Given the description of an element on the screen output the (x, y) to click on. 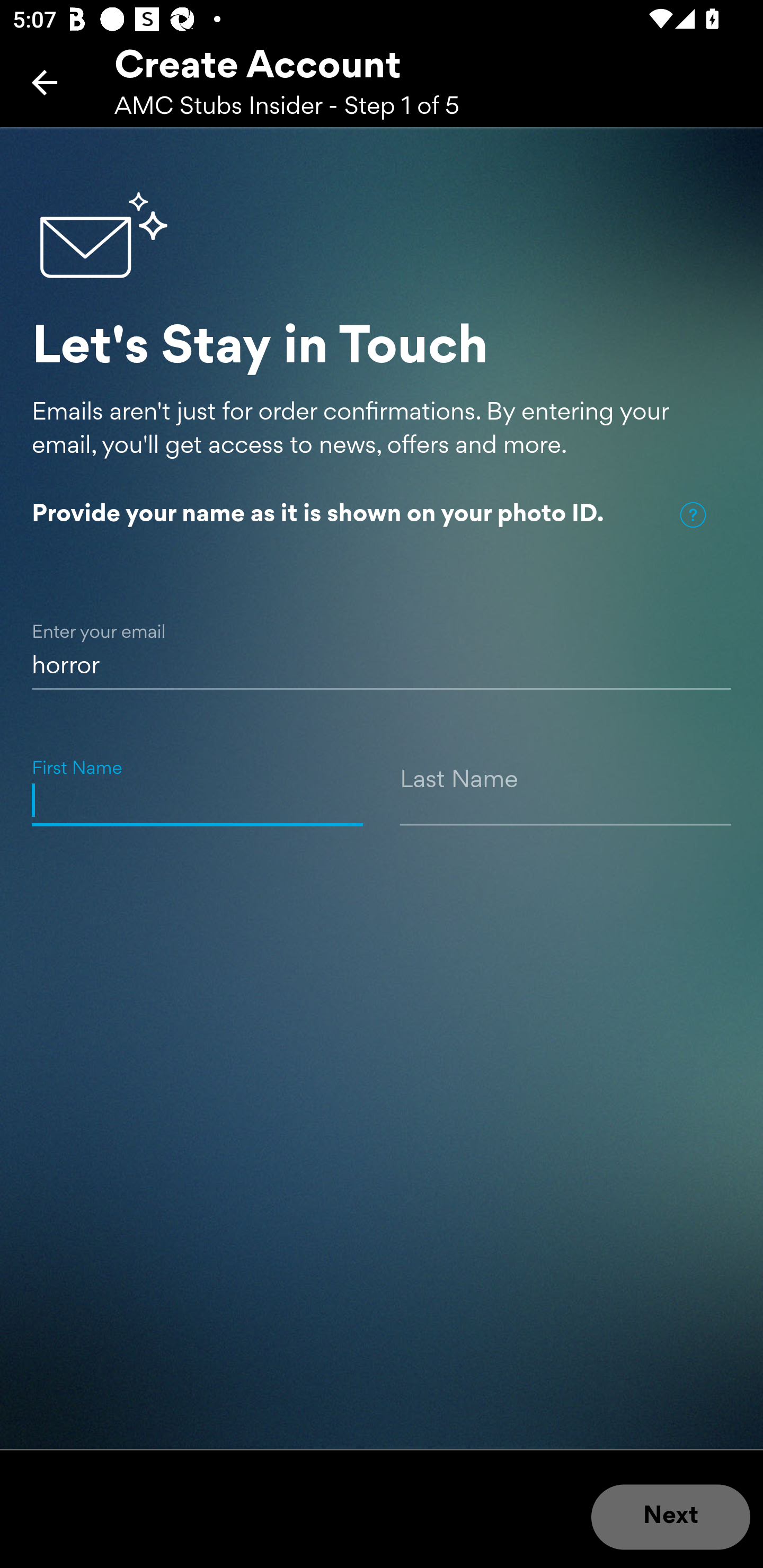
Back (44, 82)
Help (692, 514)
horror (381, 644)
